Given the description of an element on the screen output the (x, y) to click on. 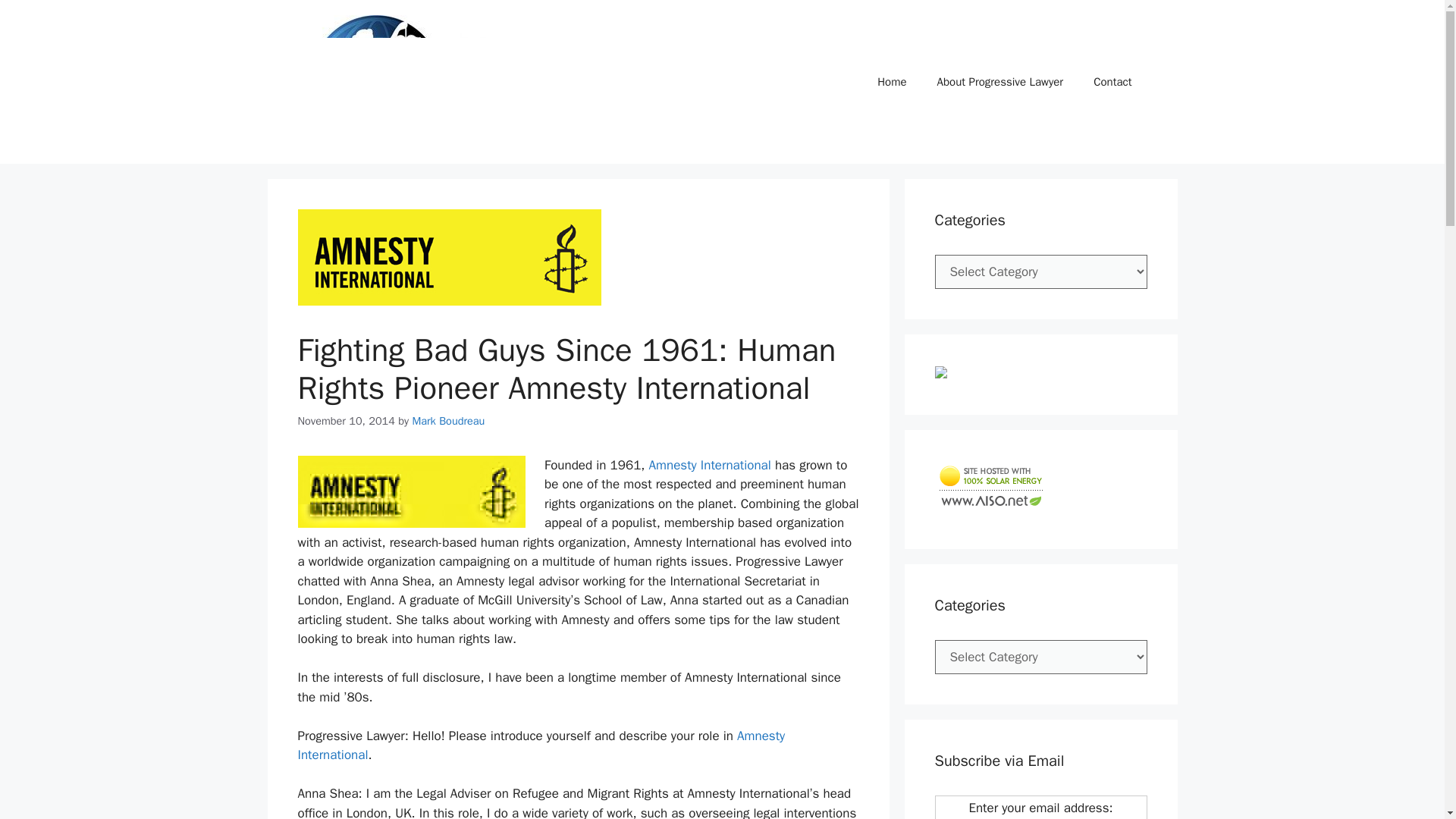
About Progressive Lawyer (999, 81)
Contact (1112, 81)
Amnesty International (711, 465)
Mark Boudreau (448, 420)
Home (891, 81)
Amnesty International (540, 745)
View all posts by Mark Boudreau (448, 420)
